Given the description of an element on the screen output the (x, y) to click on. 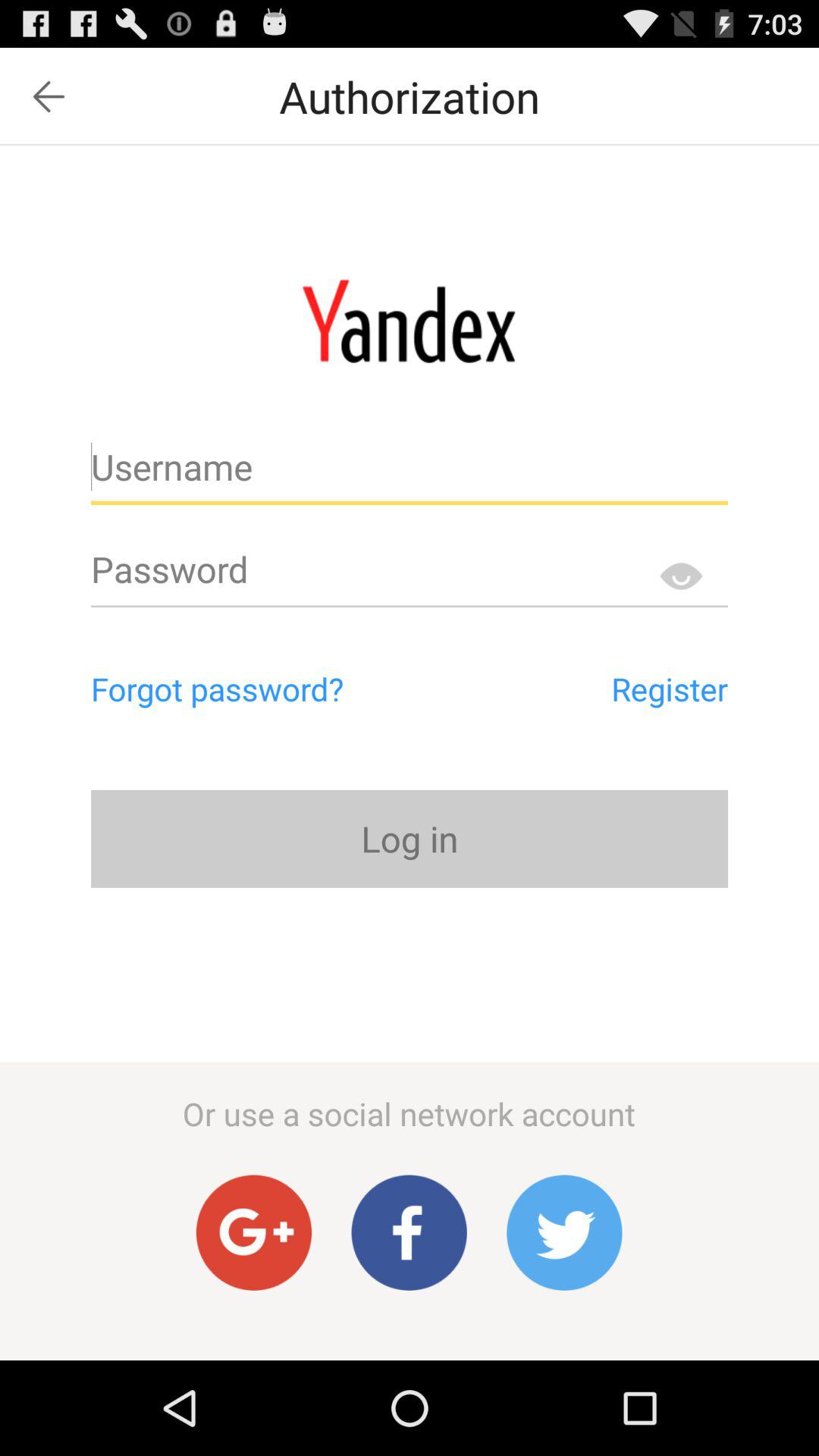
press the forgot password? item (282, 688)
